Given the description of an element on the screen output the (x, y) to click on. 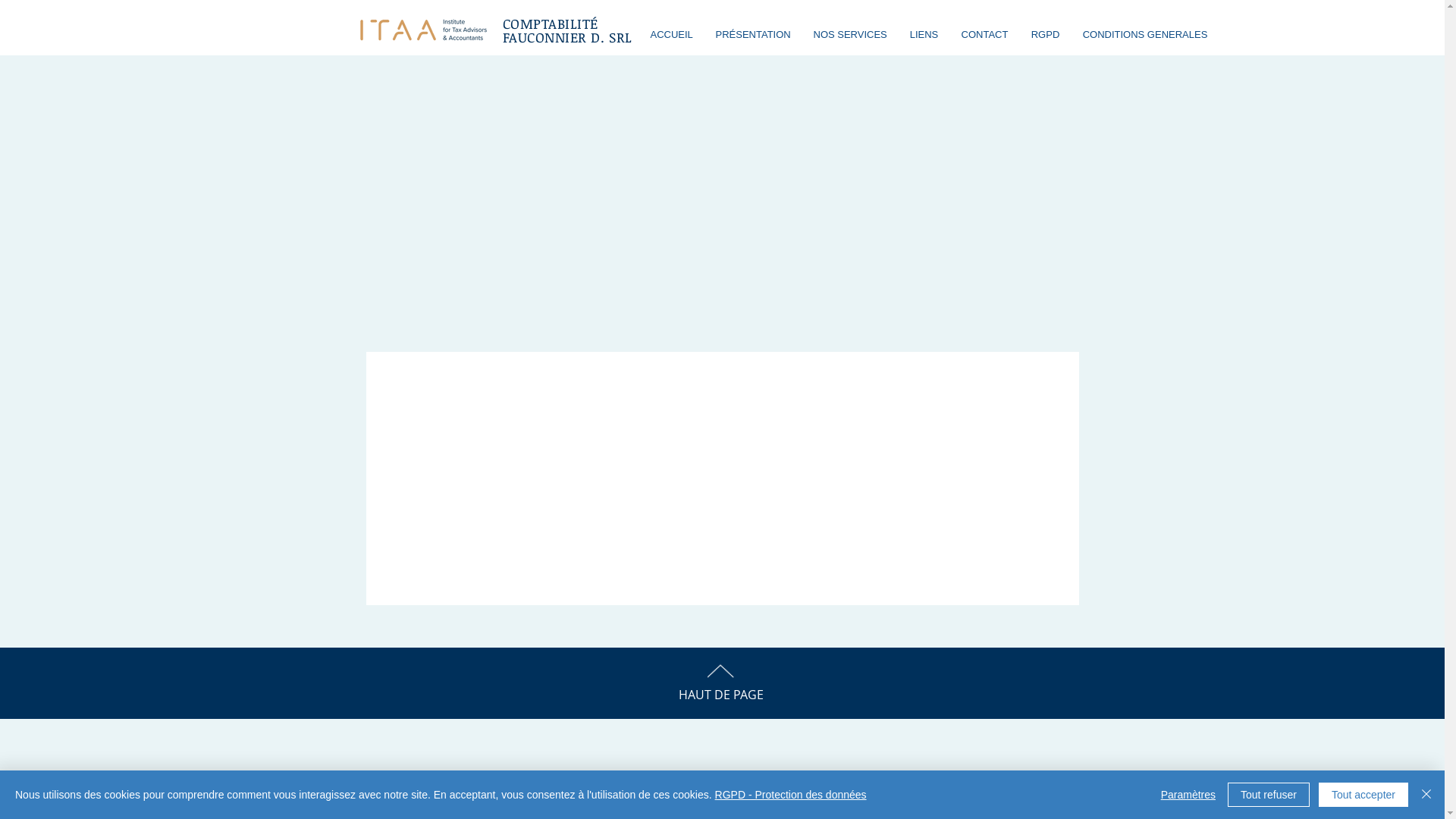
NOS SERVICES Element type: text (850, 34)
RGPD Element type: text (1044, 34)
CONDITIONS GENERALES Element type: text (1144, 34)
ACCUEIL Element type: text (670, 34)
LIENS Element type: text (923, 34)
Tout refuser Element type: text (1268, 794)
Tout accepter Element type: text (1363, 794)
CONTACT Element type: text (984, 34)
HAUT DE PAGE Element type: text (719, 694)
